Given the description of an element on the screen output the (x, y) to click on. 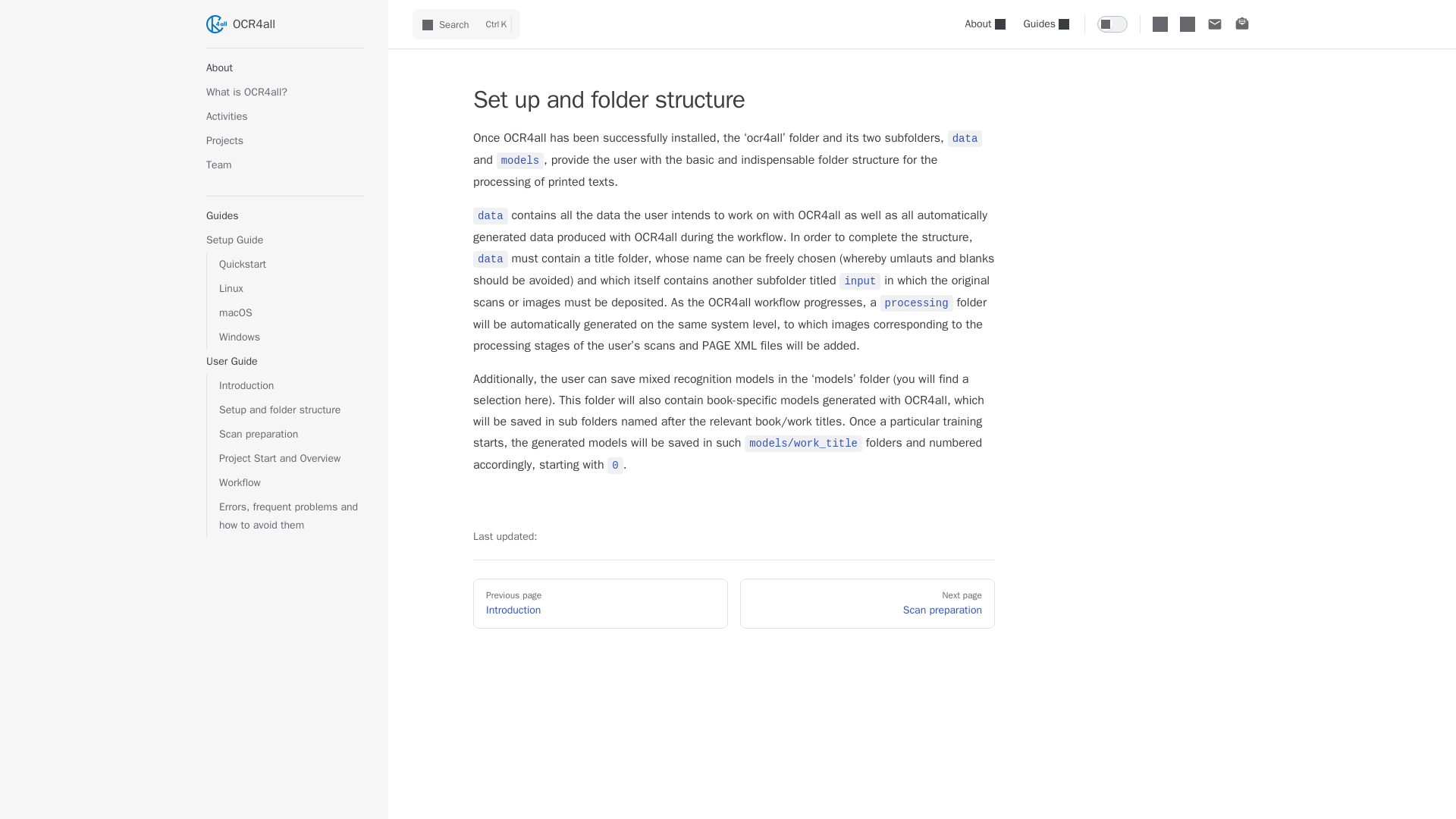
Errors, frequent problems and how to avoid them (291, 516)
OCR4all (285, 24)
Project Start and Overview (291, 458)
Team (285, 165)
Guides (1046, 24)
Switch to dark theme (1111, 23)
Skip to content (23, 16)
Quickstart (291, 264)
What is OCR4all? (285, 92)
Activities (285, 116)
